Given the description of an element on the screen output the (x, y) to click on. 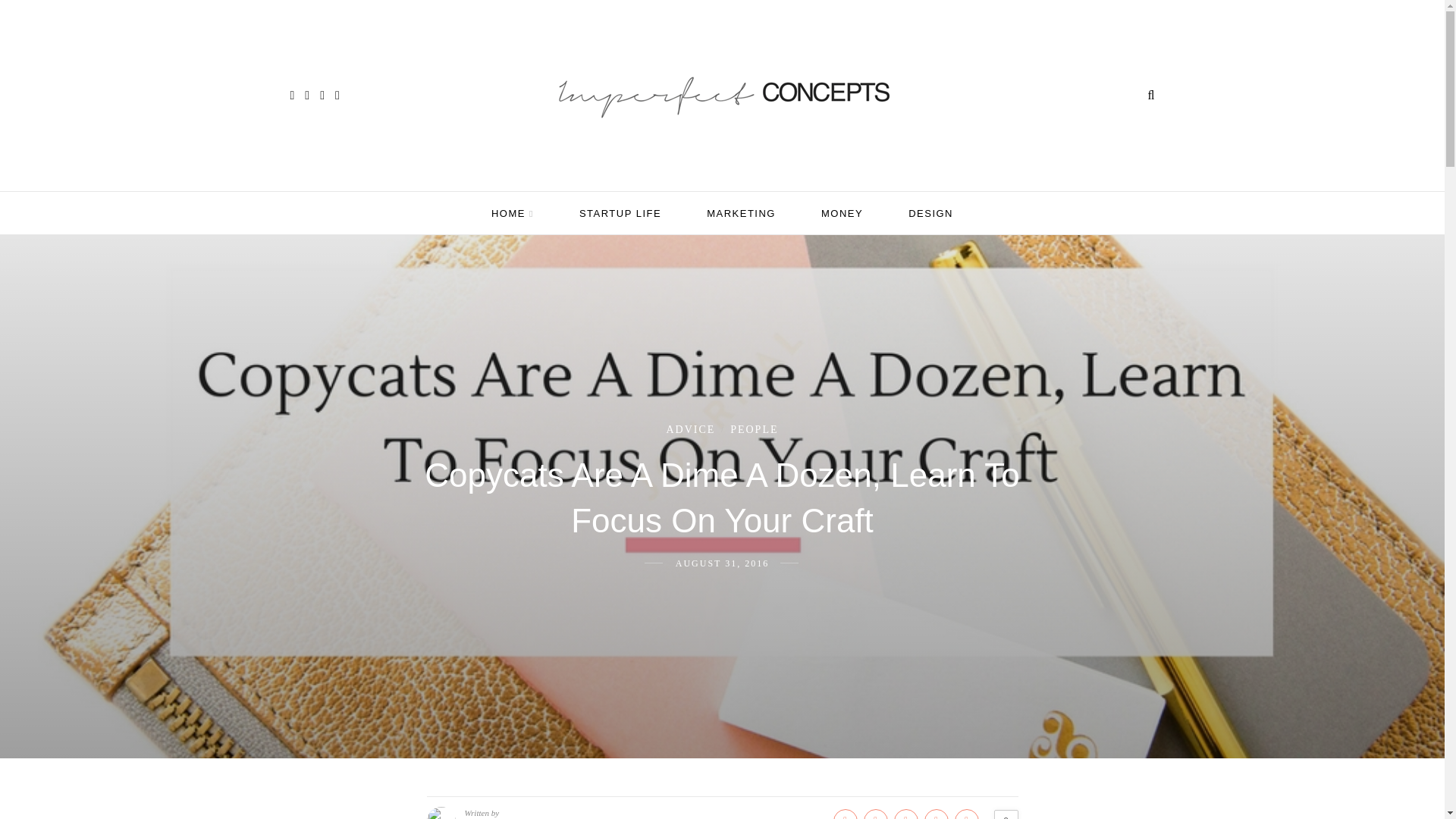
ADVICE (689, 429)
AUGUST 31, 2016 (721, 562)
MARKETING (741, 213)
HOME (513, 213)
TASHA (483, 817)
PEOPLE (753, 429)
Posts by Tasha (483, 817)
DESIGN (930, 213)
STARTUP LIFE (620, 213)
MONEY (842, 213)
